Given the description of an element on the screen output the (x, y) to click on. 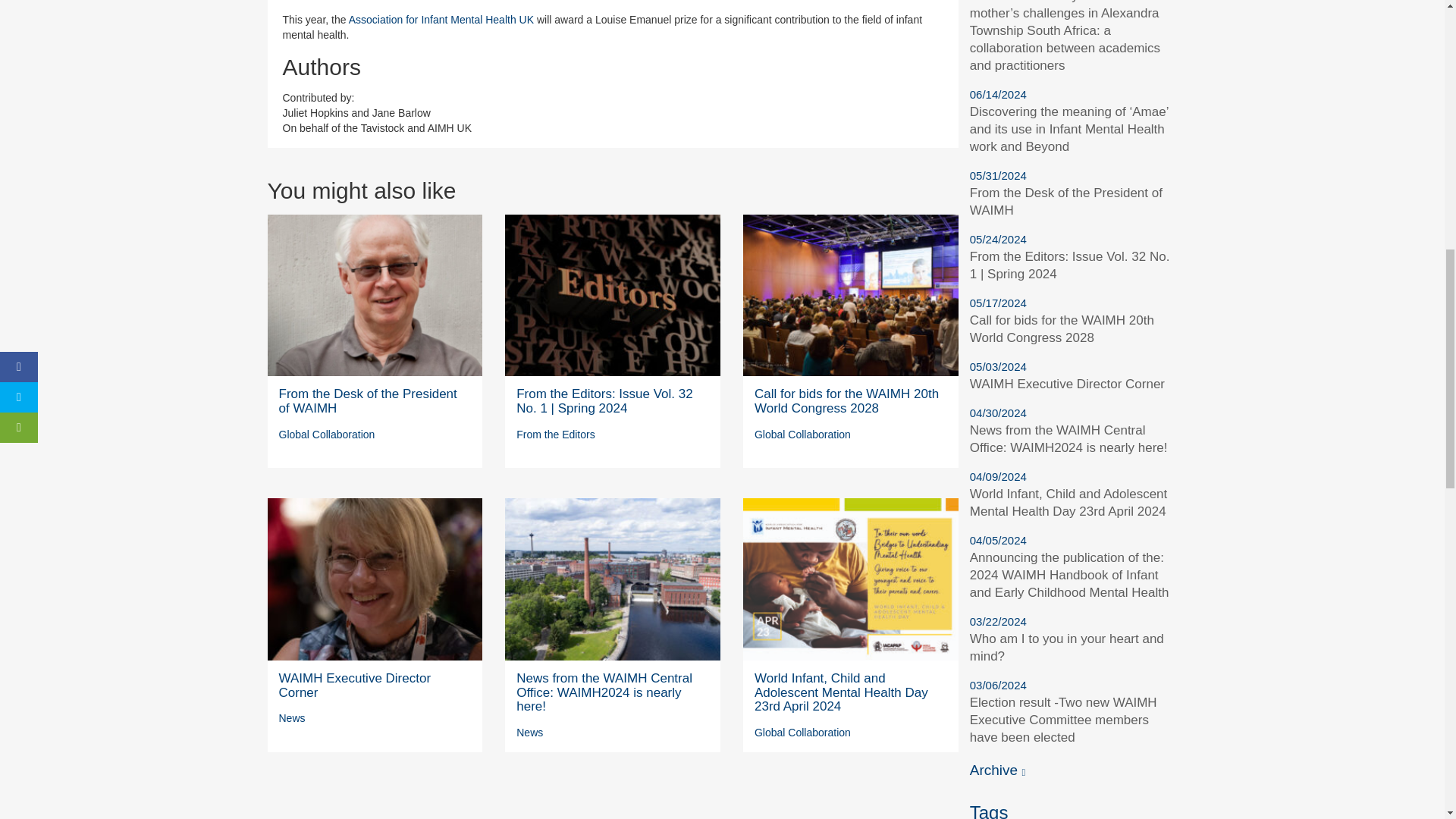
News (529, 732)
Call for bids for the WAIMH 20th World Congress 2028 (846, 400)
From the Desk of the President of WAIMH (368, 400)
View all posts in Global Collaboration (802, 434)
News (292, 717)
Association for Infant Mental Health UK (441, 19)
Global Collaboration (327, 434)
WAIMH Executive Director Corner (354, 685)
View all posts in Global Collaboration (802, 732)
